Given the description of an element on the screen output the (x, y) to click on. 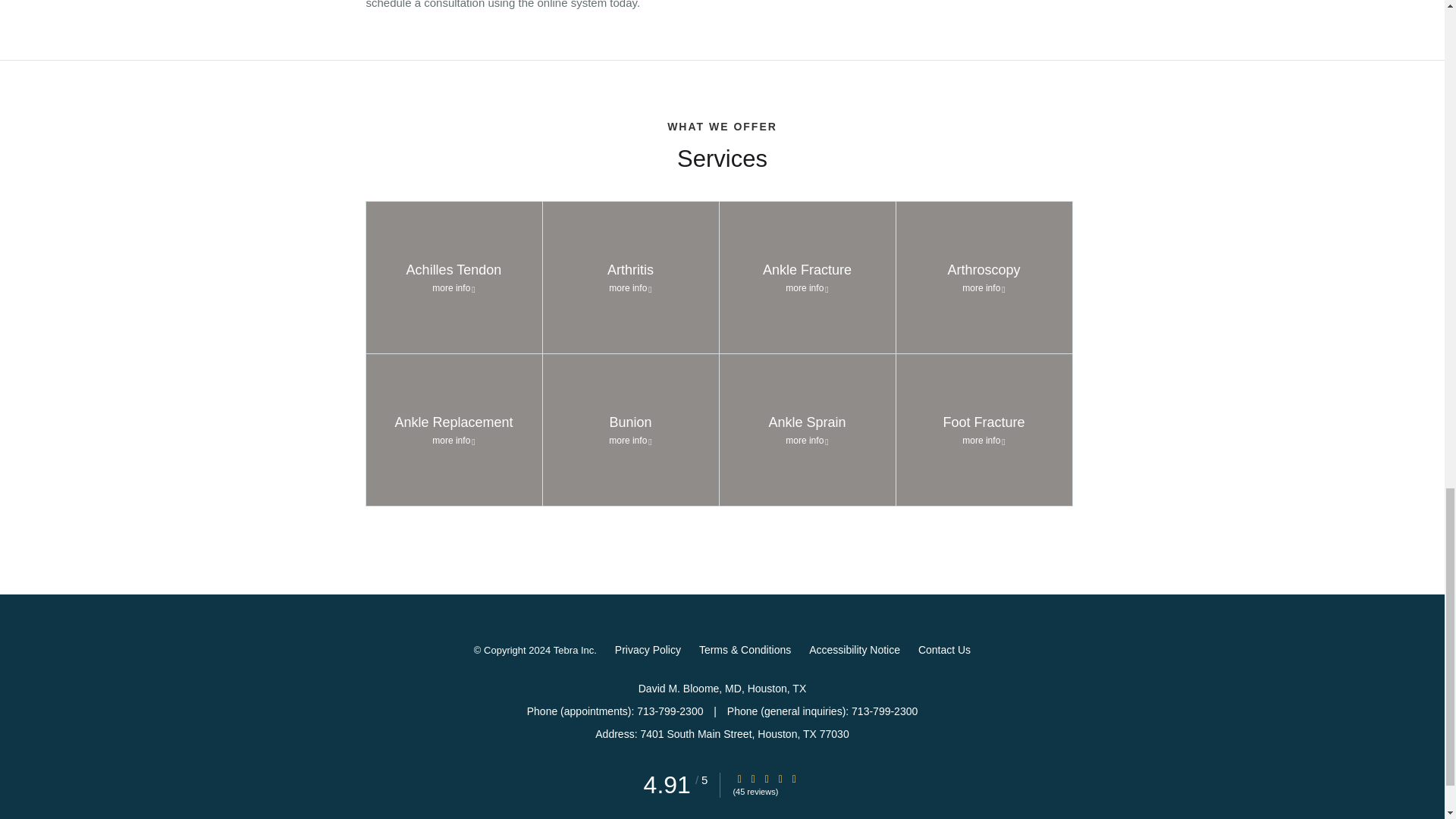
Star Rating (780, 778)
Star Rating (766, 778)
Star Rating (753, 778)
Star Rating (738, 778)
Star Rating (794, 778)
